Given the description of an element on the screen output the (x, y) to click on. 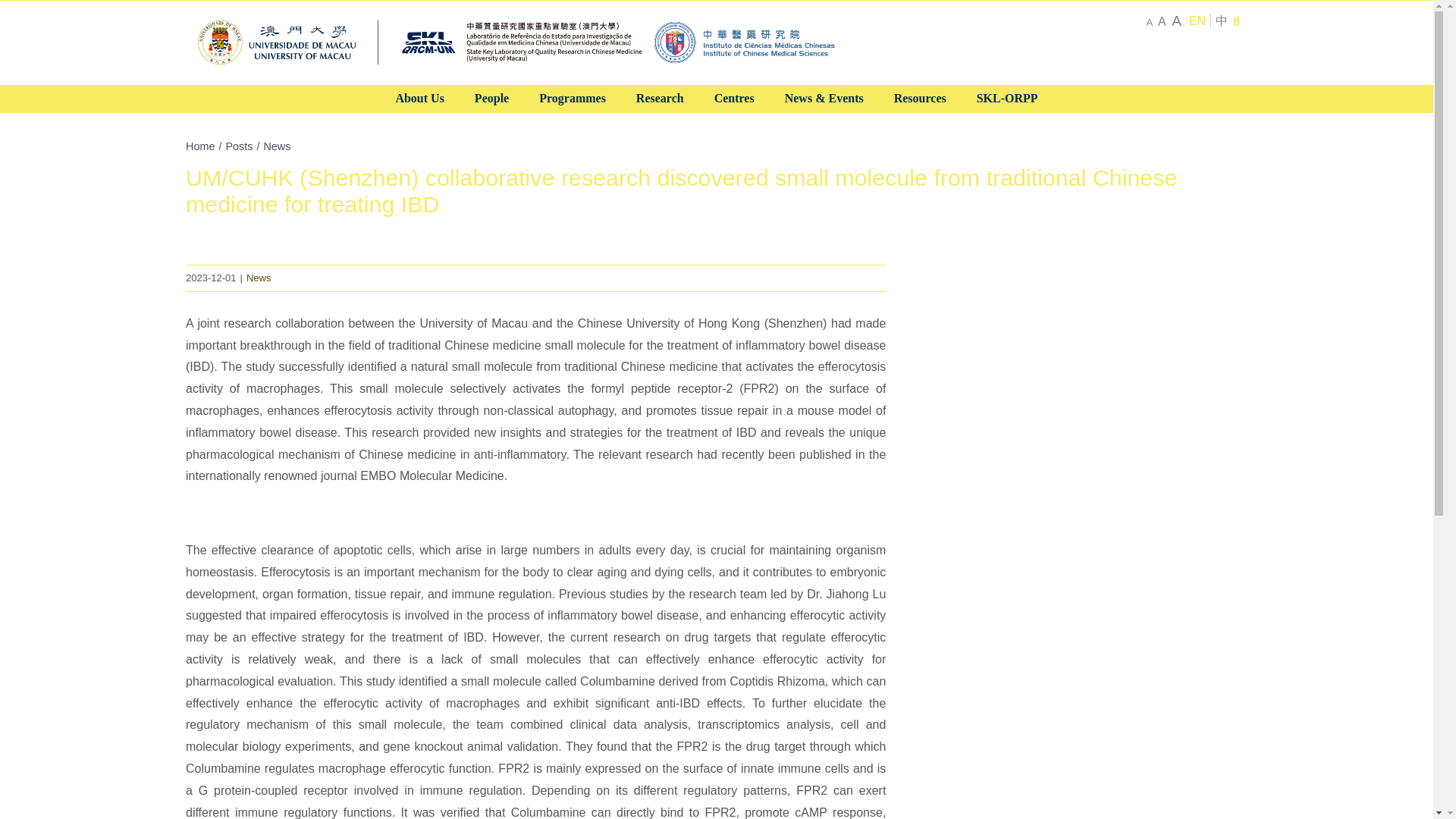
About Us (419, 98)
Programmes (572, 98)
People (492, 98)
Centres (734, 98)
EN (1197, 20)
Research (659, 98)
